Given the description of an element on the screen output the (x, y) to click on. 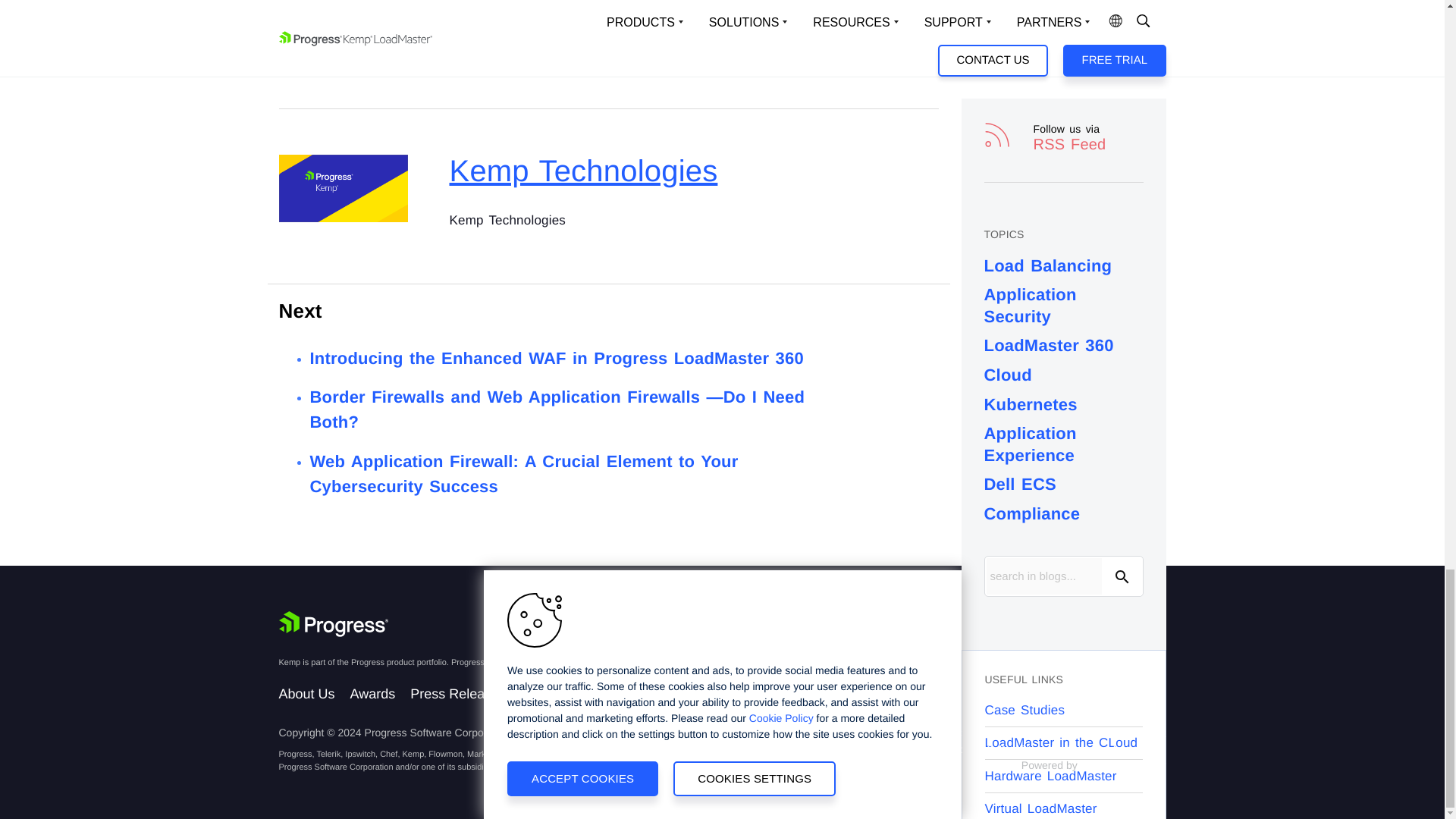
social-image (343, 187)
Progress Software Logo (333, 623)
